Given the description of an element on the screen output the (x, y) to click on. 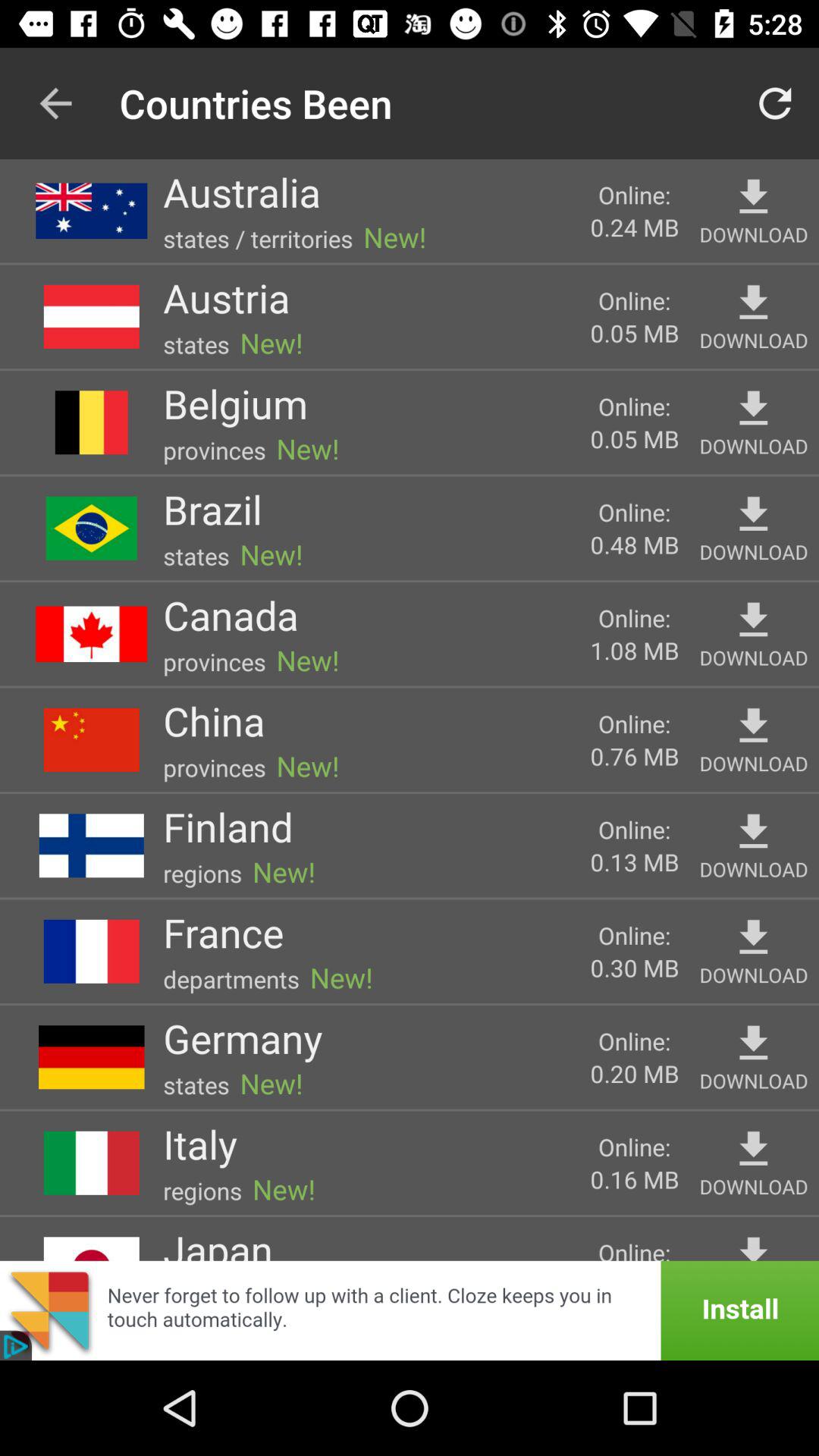
download germany (753, 1043)
